Given the description of an element on the screen output the (x, y) to click on. 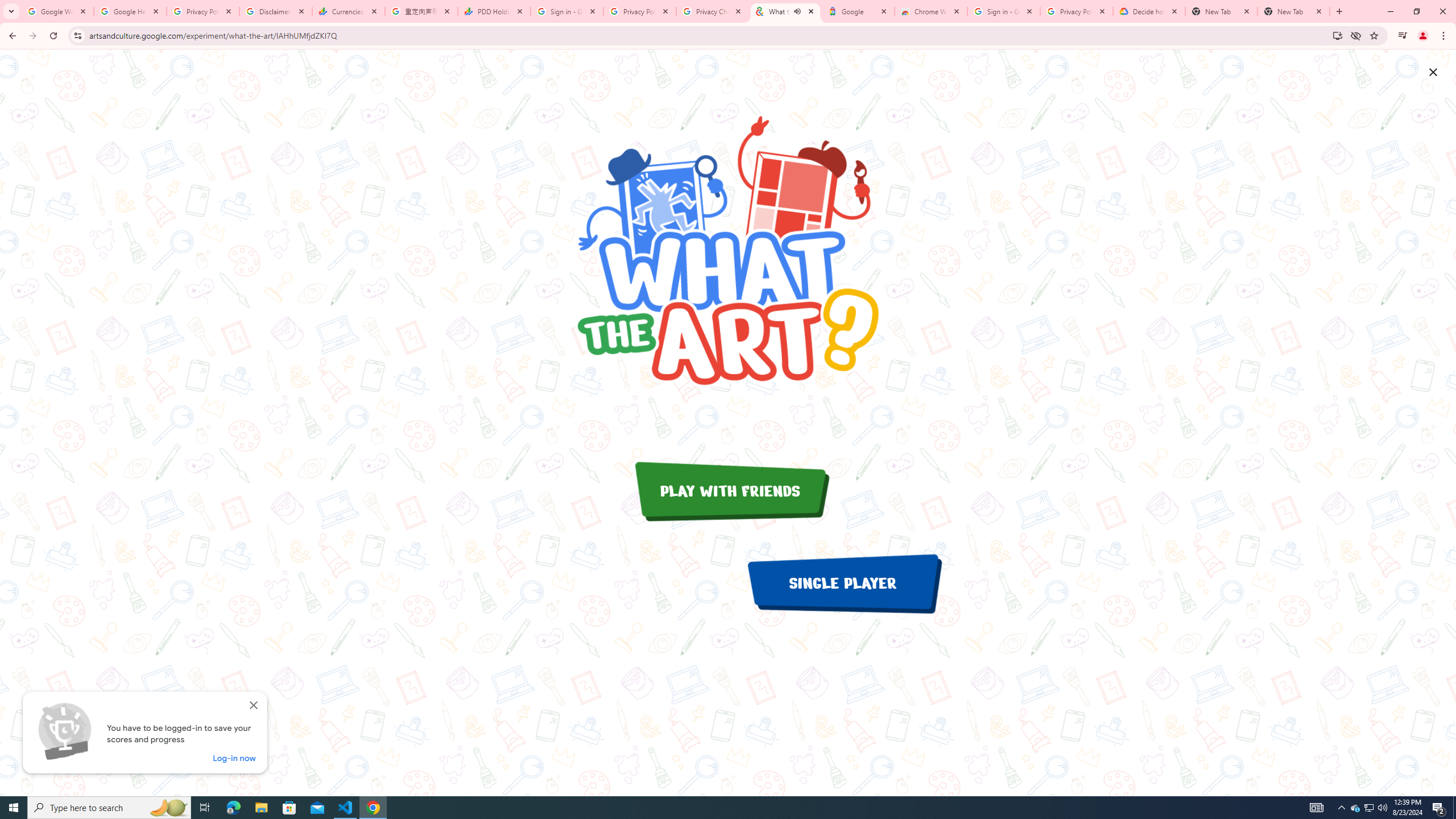
Google (857, 11)
Sign in - Google Accounts (566, 11)
Currencies - Google Finance (348, 11)
Sign in - Google Accounts (1003, 11)
Chrome Web Store - Color themes by Chrome (930, 11)
